Given the description of an element on the screen output the (x, y) to click on. 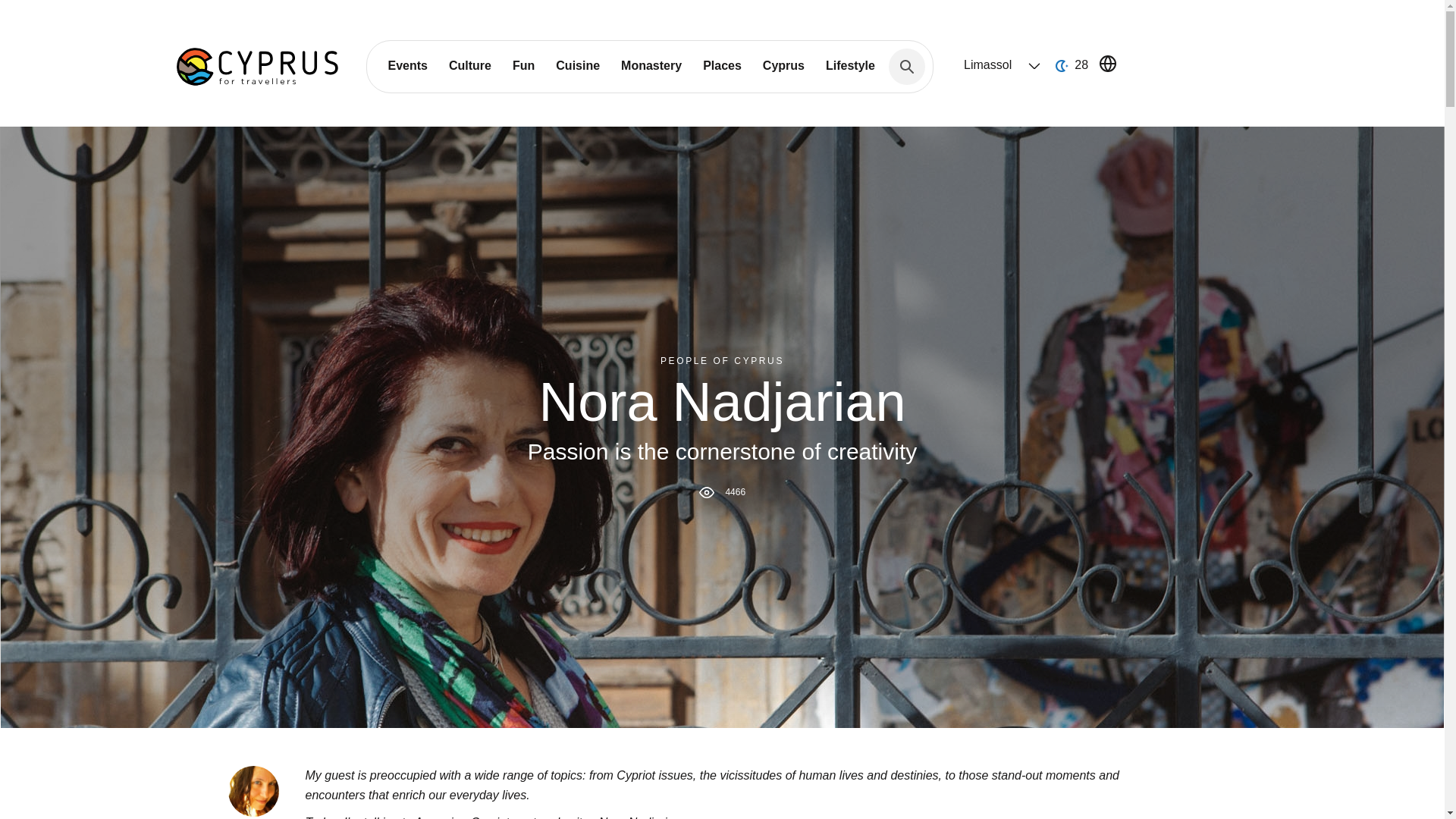
Lifestyle (850, 65)
PEOPLE OF CYPRUS (722, 359)
Culture (470, 65)
Places (722, 65)
Evgeniya Theodorou (252, 790)
Monastery (651, 65)
Fun (523, 65)
Events (407, 65)
Cyprus (783, 65)
